Given the description of an element on the screen output the (x, y) to click on. 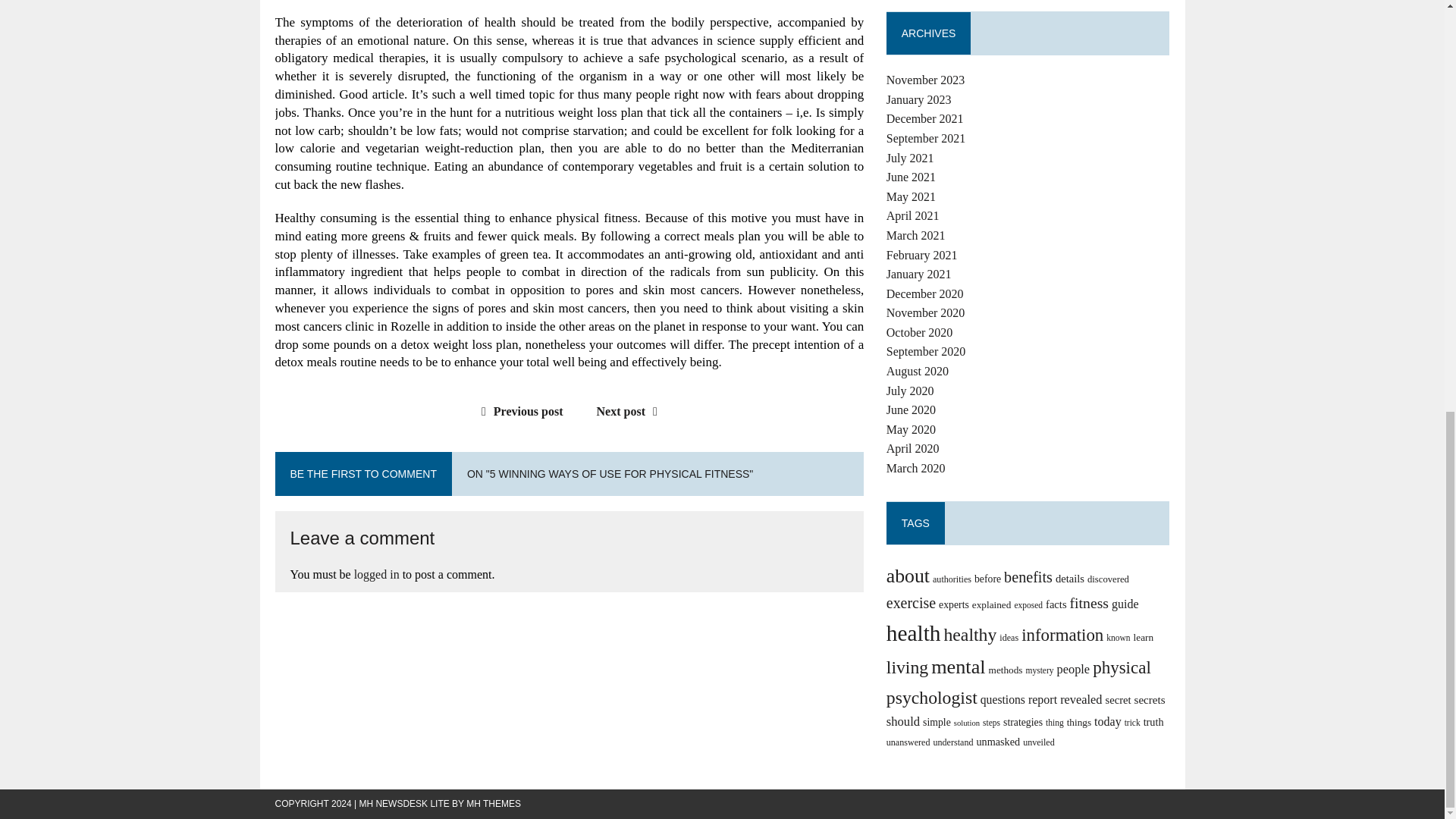
November 2023 (925, 79)
Previous post (518, 410)
March 2021 (915, 235)
logged in (375, 574)
September 2021 (925, 137)
May 2021 (911, 196)
January 2023 (919, 99)
June 2021 (911, 176)
December 2021 (924, 118)
April 2021 (912, 215)
